Given the description of an element on the screen output the (x, y) to click on. 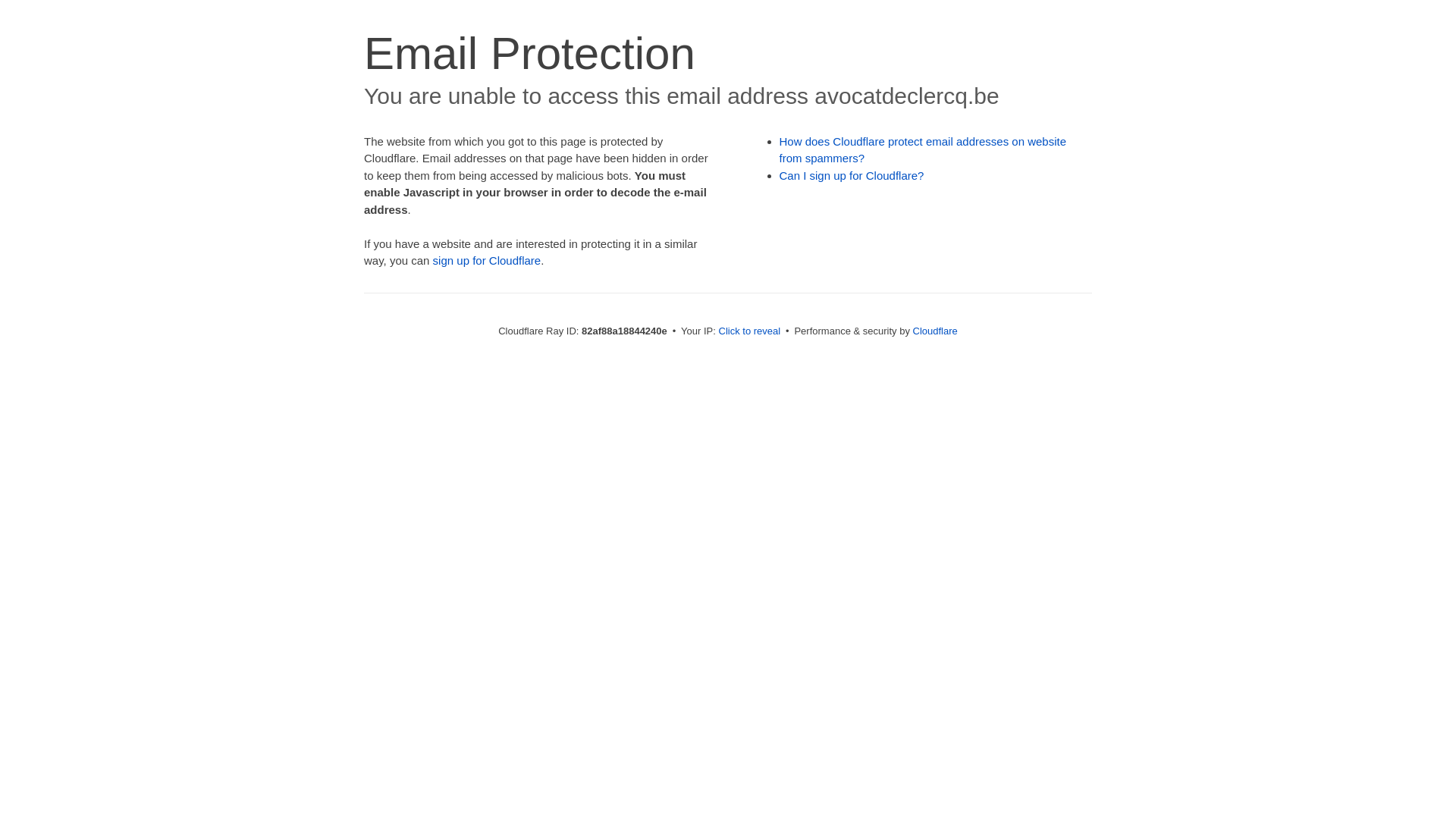
sign up for Cloudflare Element type: text (487, 260)
Can I sign up for Cloudflare? Element type: text (851, 175)
Click to reveal Element type: text (749, 330)
Cloudflare Element type: text (935, 330)
